Given the description of an element on the screen output the (x, y) to click on. 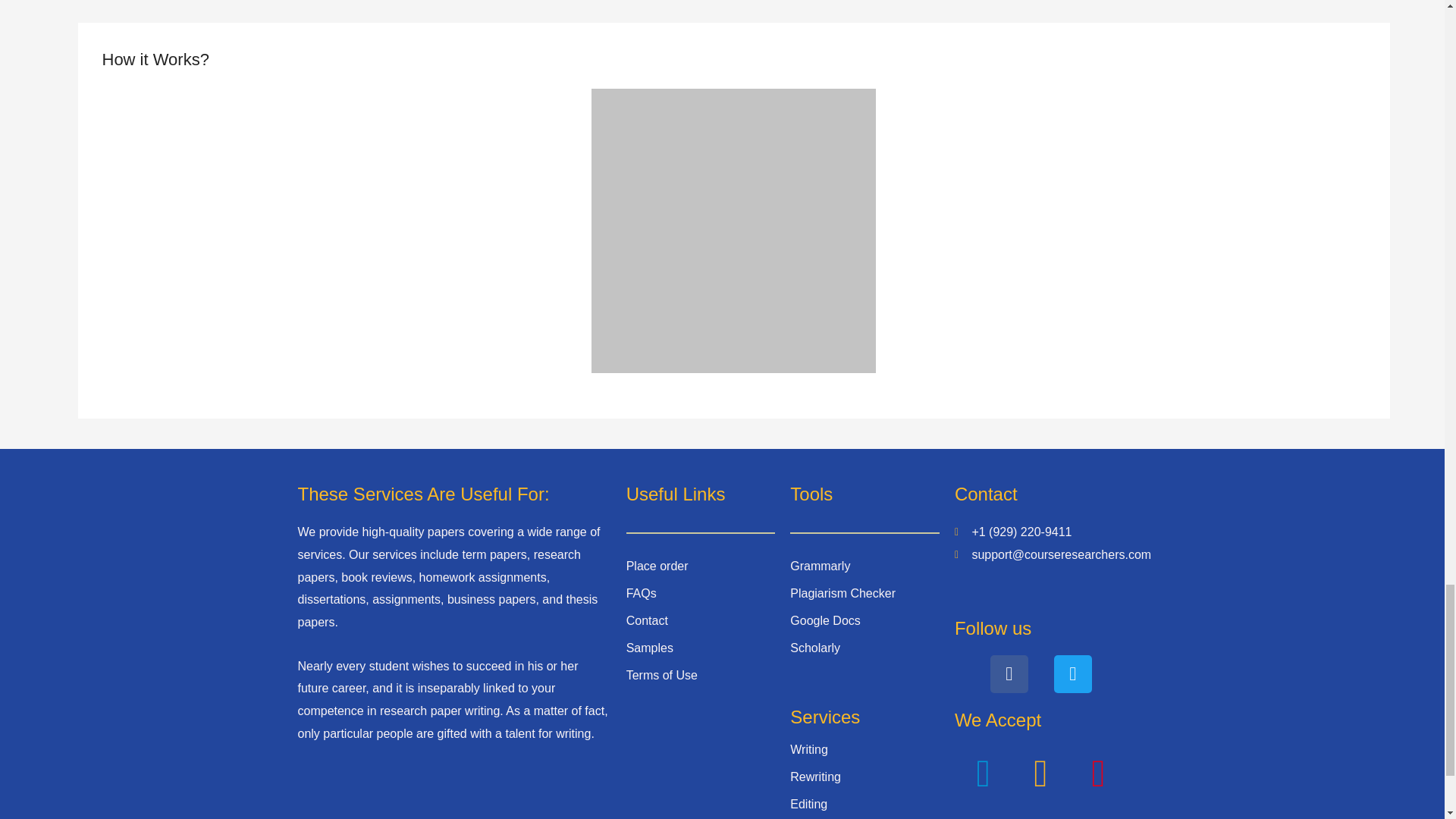
Terms of Use (661, 675)
Contact (647, 620)
Editing (808, 803)
Rewriting (815, 776)
Twitter (1073, 673)
Samples (649, 647)
Place order (657, 565)
Writing (809, 748)
Facebook (1008, 673)
FAQs (641, 593)
